Given the description of an element on the screen output the (x, y) to click on. 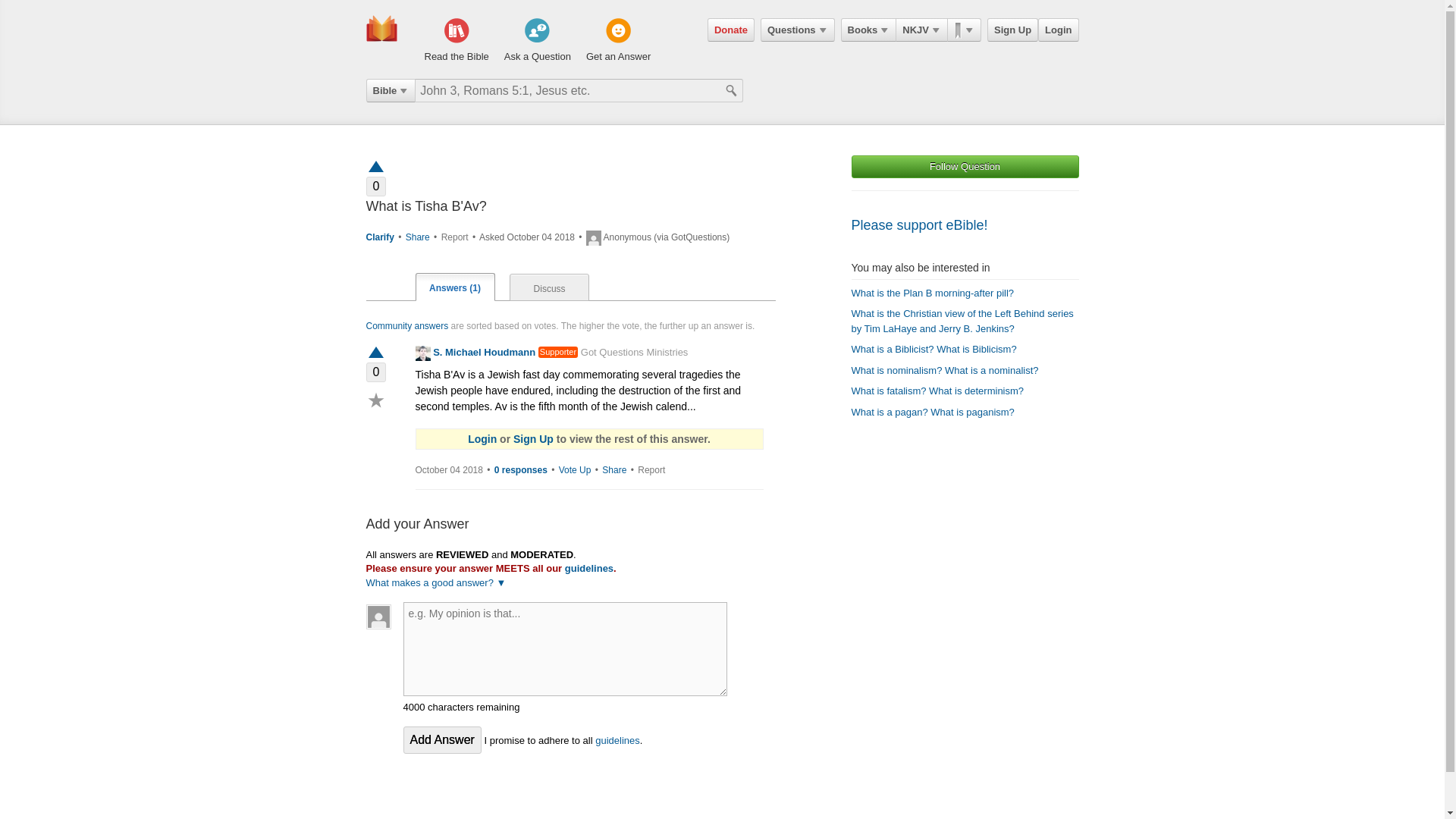
Get an Answer (618, 41)
Ask a Question (536, 41)
Vote Up (375, 353)
Vote Up (575, 470)
Donate (730, 29)
Read the Bible (457, 41)
Questions (797, 29)
Add Answer (442, 739)
Books (868, 29)
Vote Question Up (375, 165)
